Given the description of an element on the screen output the (x, y) to click on. 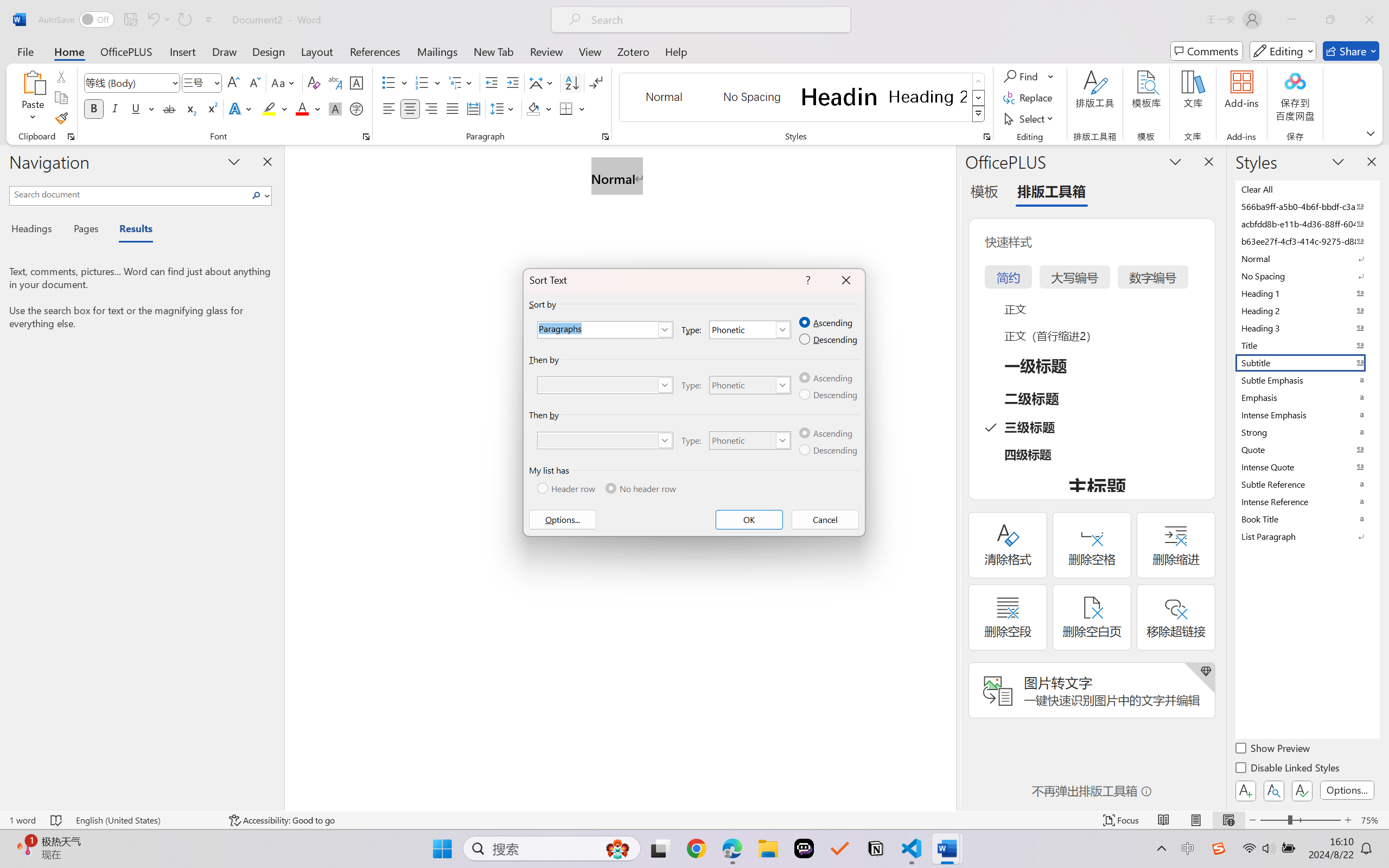
Search (259, 195)
Disable Linked Styles (1287, 769)
Styles... (986, 136)
Then by (605, 440)
